Given the description of an element on the screen output the (x, y) to click on. 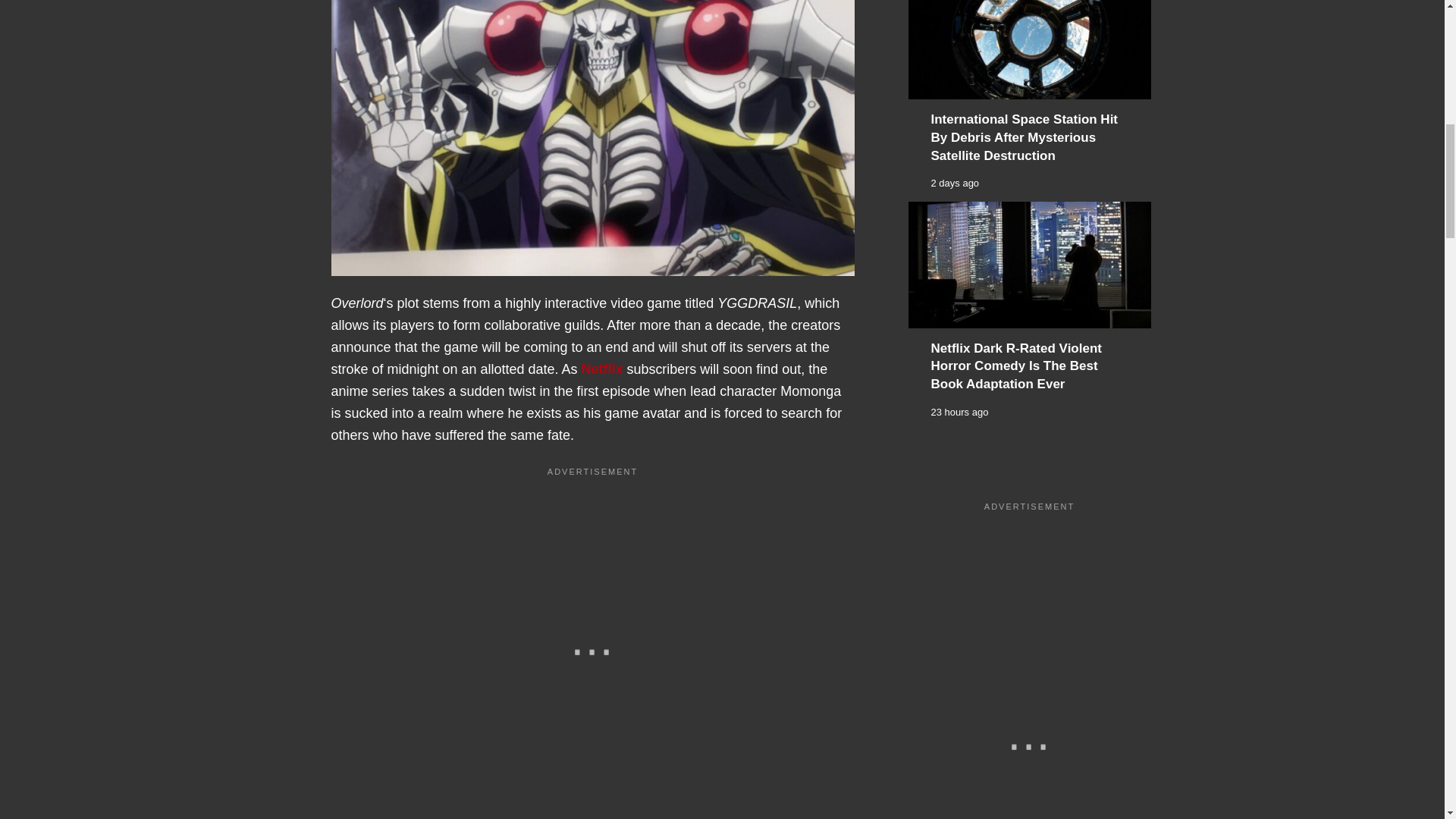
Netflix (601, 368)
